Given the description of an element on the screen output the (x, y) to click on. 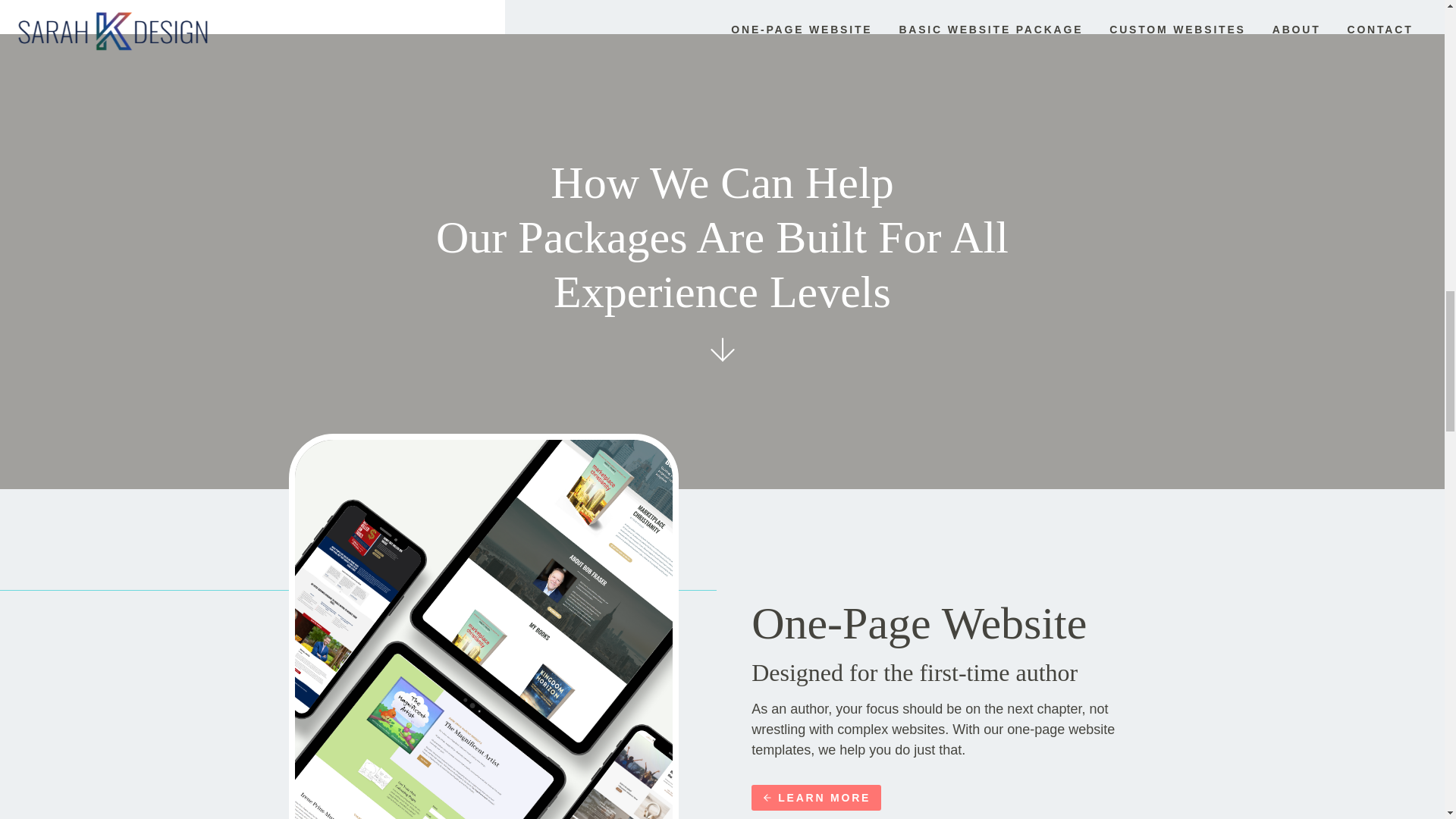
One-Page Website (918, 623)
LEARN MORE (815, 797)
